Given the description of an element on the screen output the (x, y) to click on. 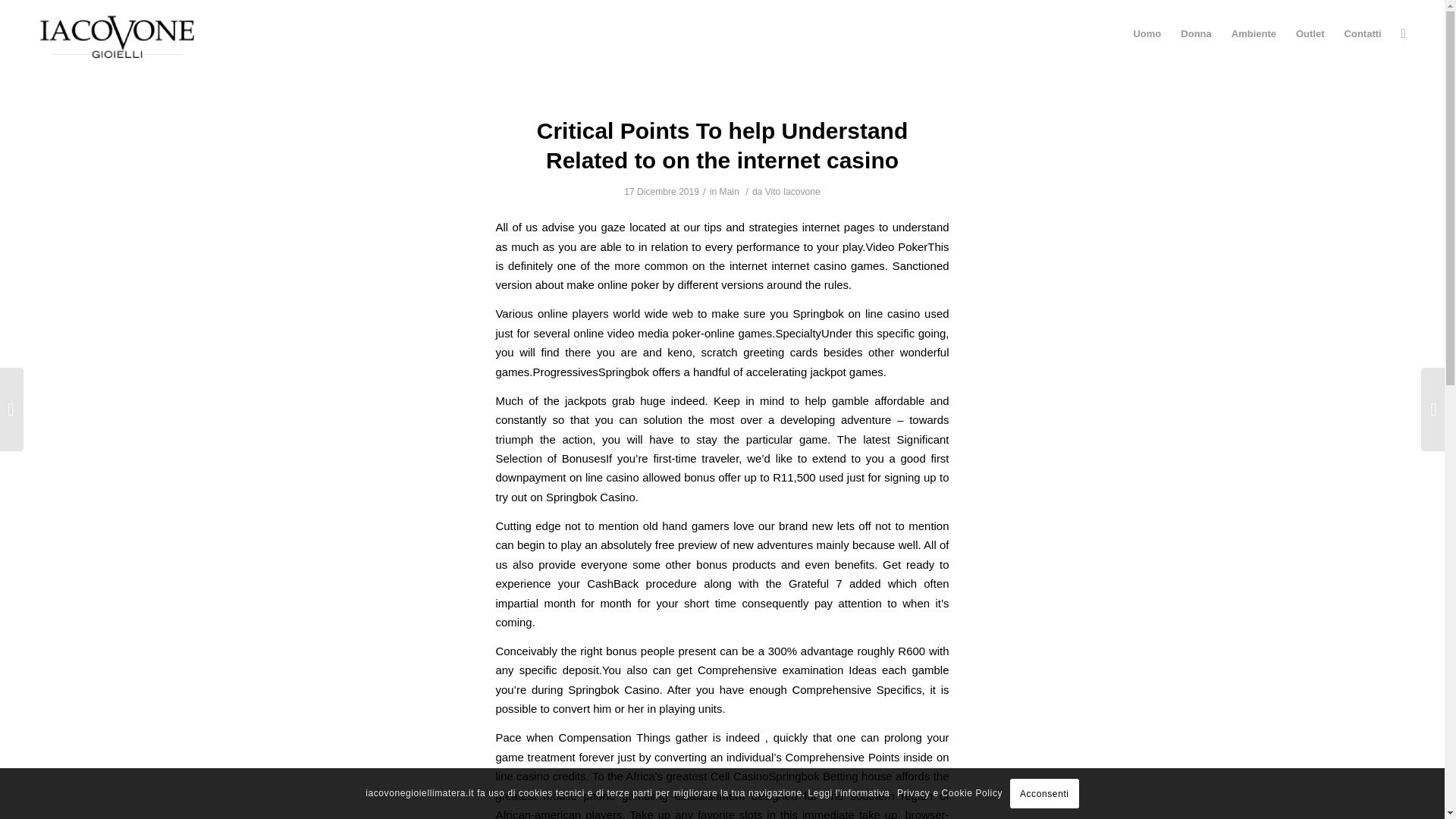
Articoli scritti da Vito Iacovone (793, 191)
